Given the description of an element on the screen output the (x, y) to click on. 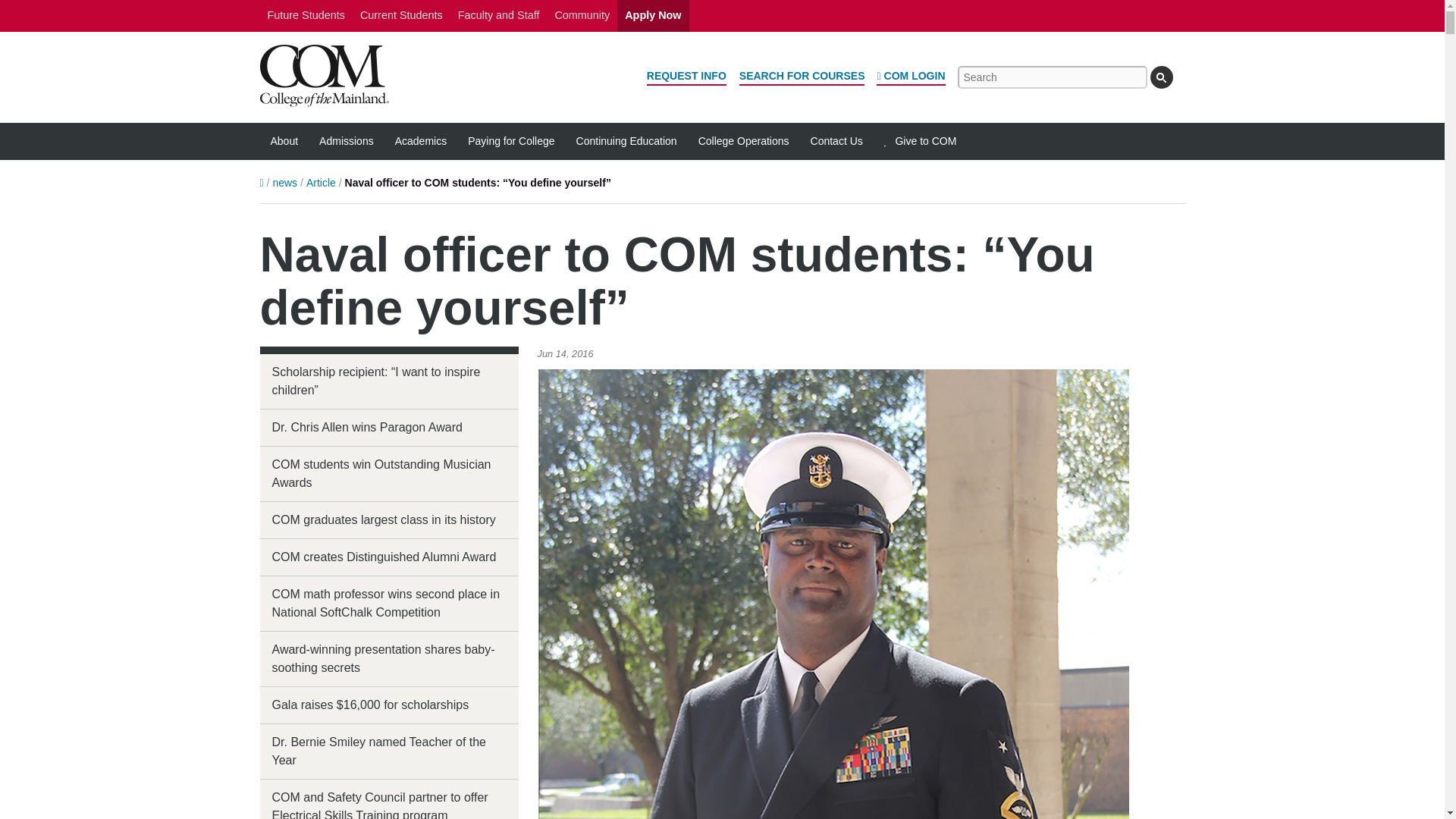
Apply Now (652, 15)
Current Students (400, 15)
COM LOGIN (910, 76)
Search (1161, 77)
REQUEST INFO (686, 76)
Community (582, 15)
Search (1161, 77)
About (283, 140)
Search (1161, 77)
Faculty and Staff (498, 15)
Future Students (305, 15)
SEARCH FOR COURSES (801, 76)
Admissions (346, 140)
